Given the description of an element on the screen output the (x, y) to click on. 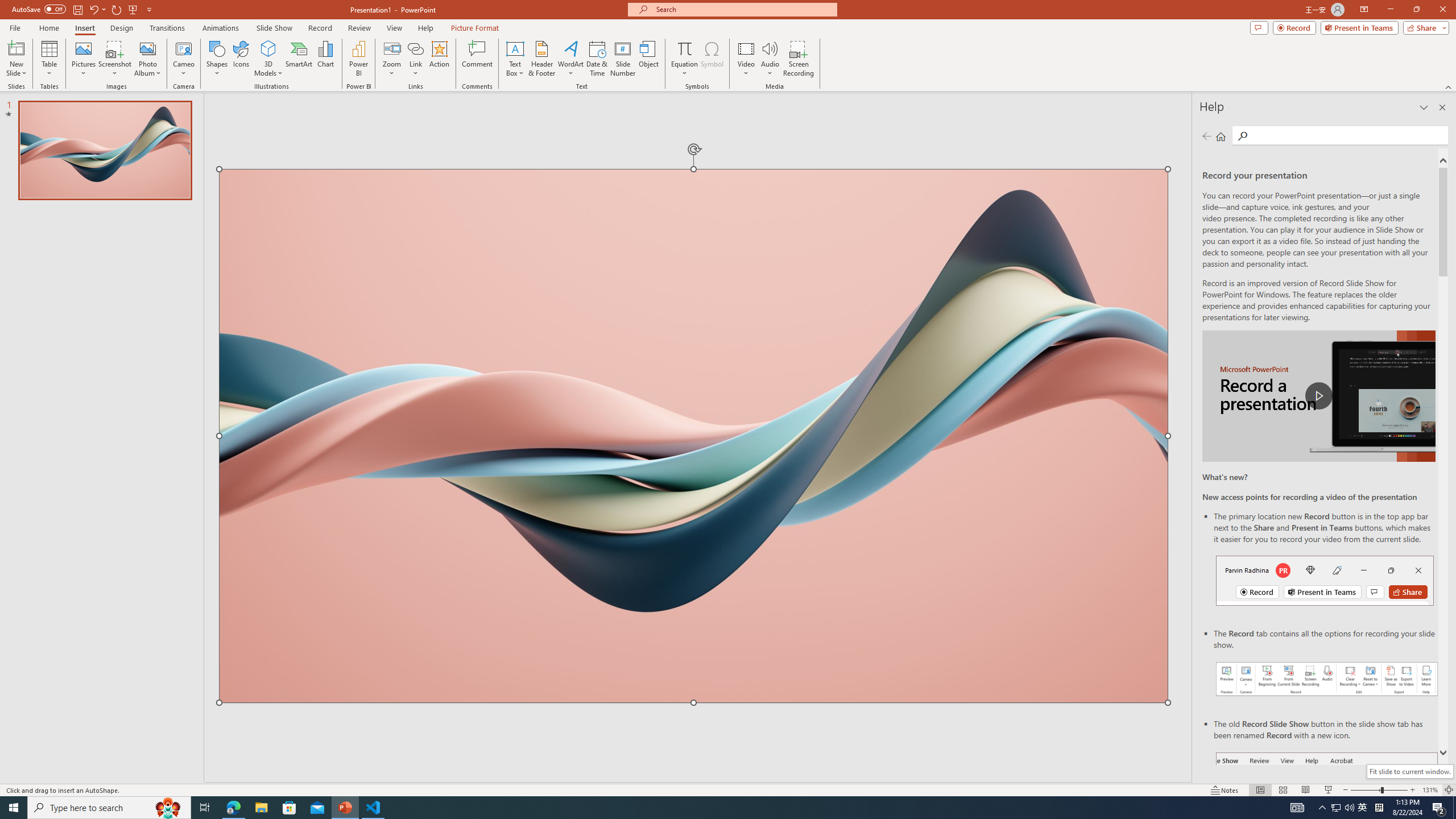
New Photo Album... (147, 48)
Picture Format (475, 28)
Comment (476, 58)
Icons (240, 58)
Record button in top bar (1324, 580)
